Given the description of an element on the screen output the (x, y) to click on. 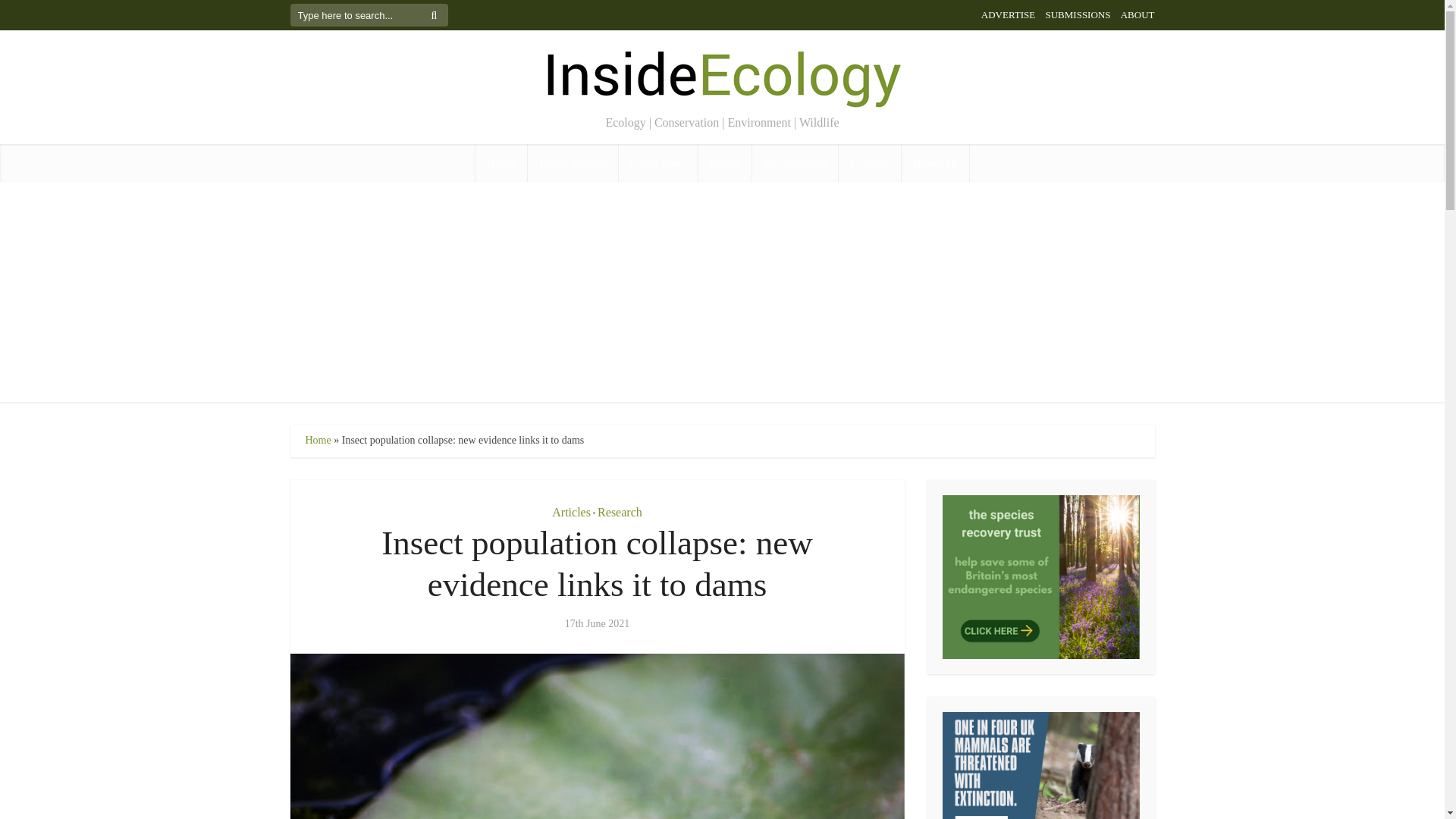
SUBMISSIONS (1077, 14)
Type here to search... (367, 15)
Home (501, 162)
Research (619, 512)
Environment (795, 162)
Articles (571, 512)
Latest articles (572, 162)
Home (317, 439)
Ecology (869, 162)
Research (935, 162)
ADVERTISE (1008, 14)
Type here to search... (367, 15)
Books (725, 162)
ABOUT (1137, 14)
